Given the description of an element on the screen output the (x, y) to click on. 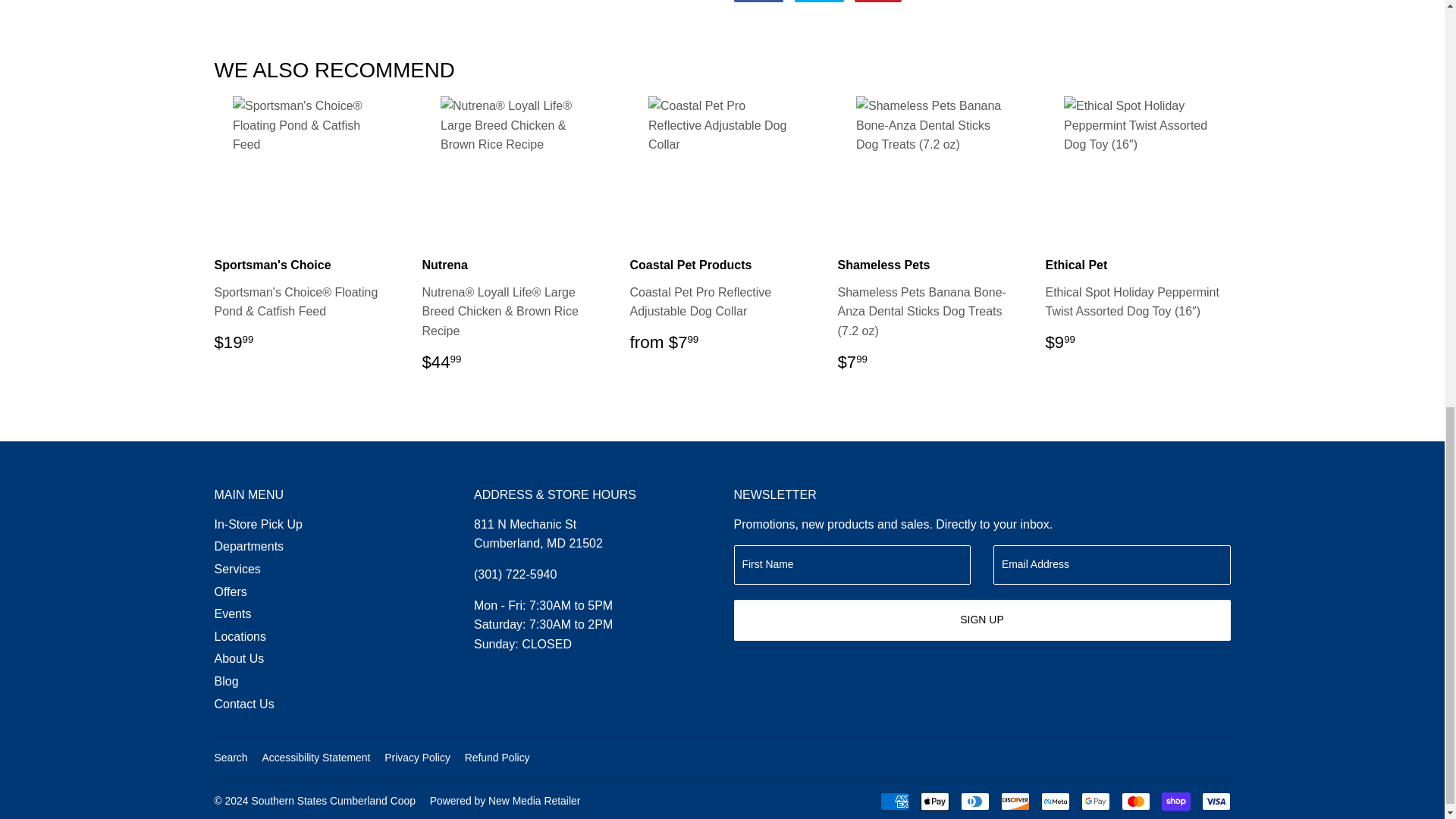
New Media Retailer (504, 800)
Meta Pay (1054, 801)
Share on Facebook (758, 1)
Mastercard (1135, 801)
Shop Pay (1176, 801)
Discover (1015, 801)
Visa (1215, 801)
Tweet on Twitter (819, 1)
Apple Pay (934, 801)
Diners Club (973, 801)
Pin on Pinterest (877, 1)
American Express (893, 801)
Google Pay (1095, 801)
